Given the description of an element on the screen output the (x, y) to click on. 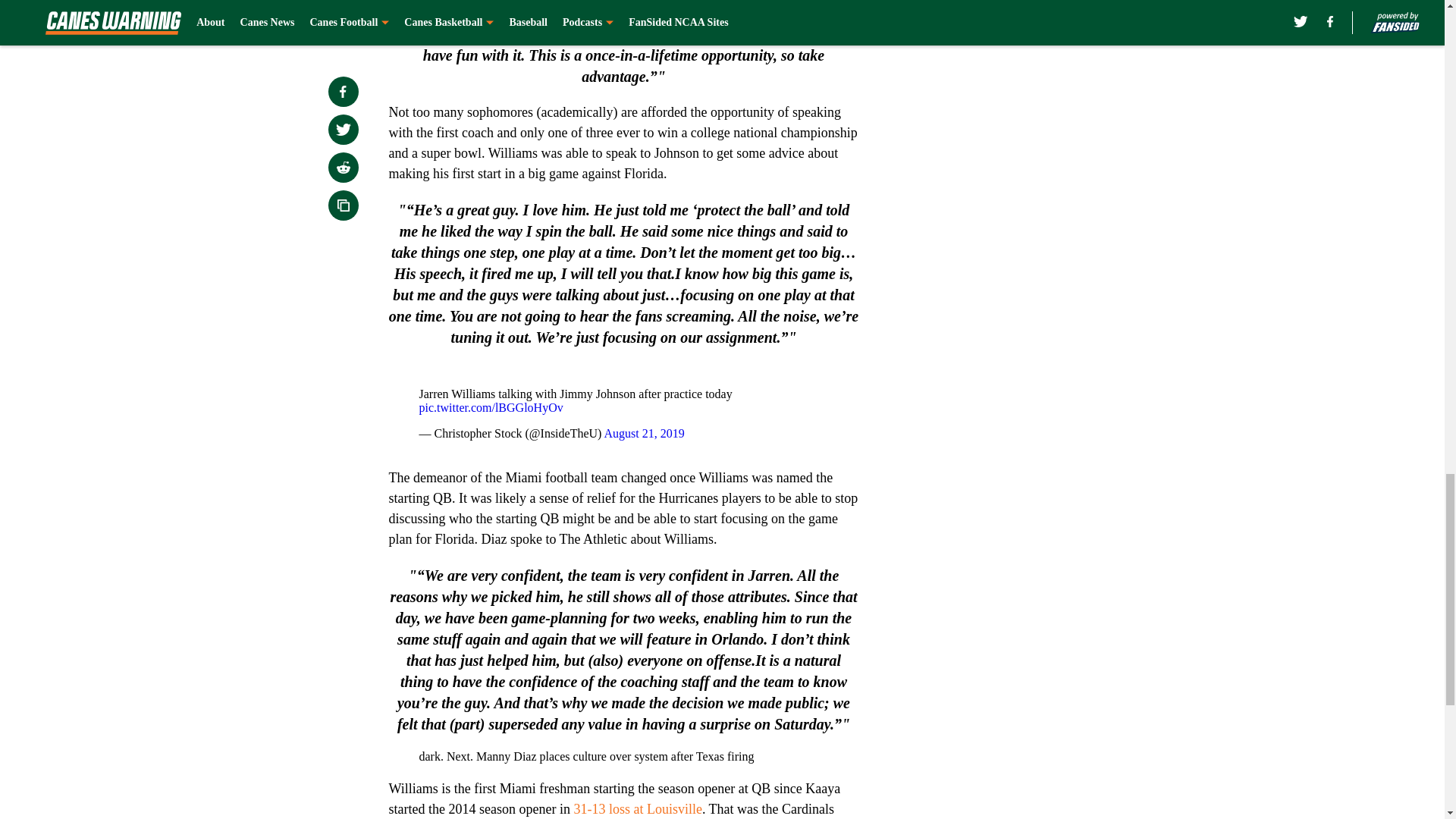
31-13 loss at Louisville (637, 808)
August 21, 2019 (644, 432)
